Given the description of an element on the screen output the (x, y) to click on. 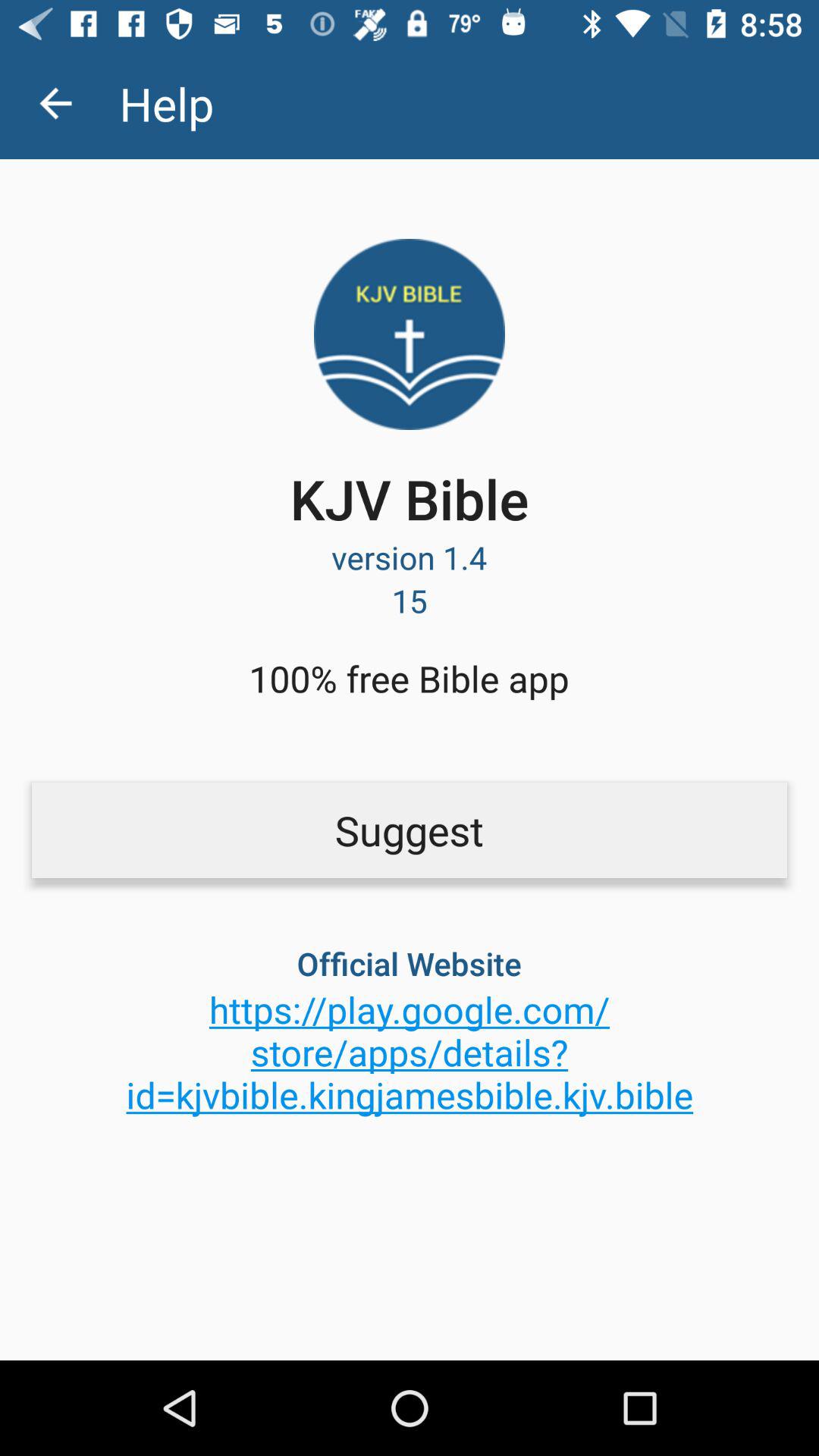
tap https play google icon (409, 1052)
